Given the description of an element on the screen output the (x, y) to click on. 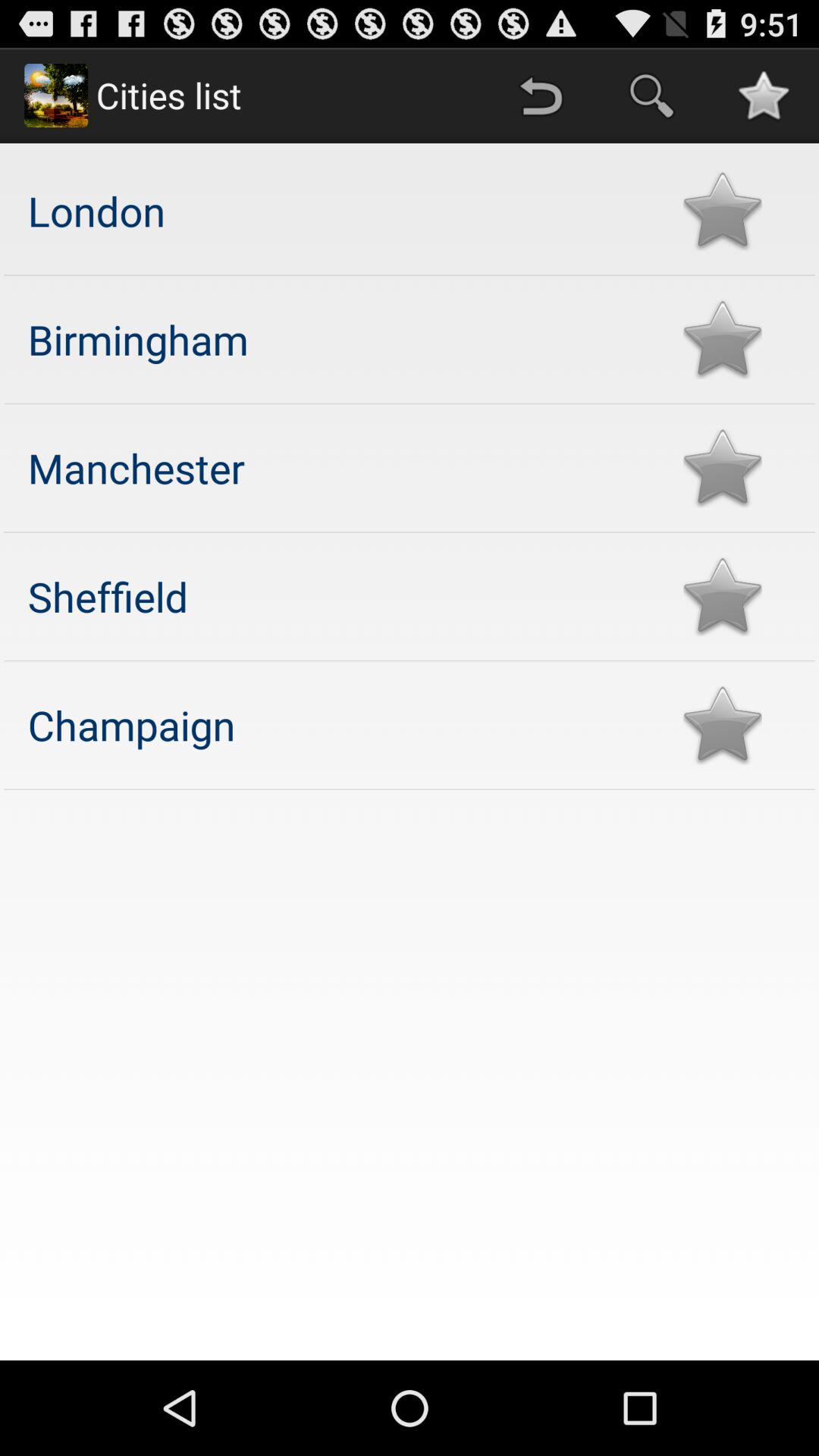
scroll until the champaign icon (340, 724)
